Given the description of an element on the screen output the (x, y) to click on. 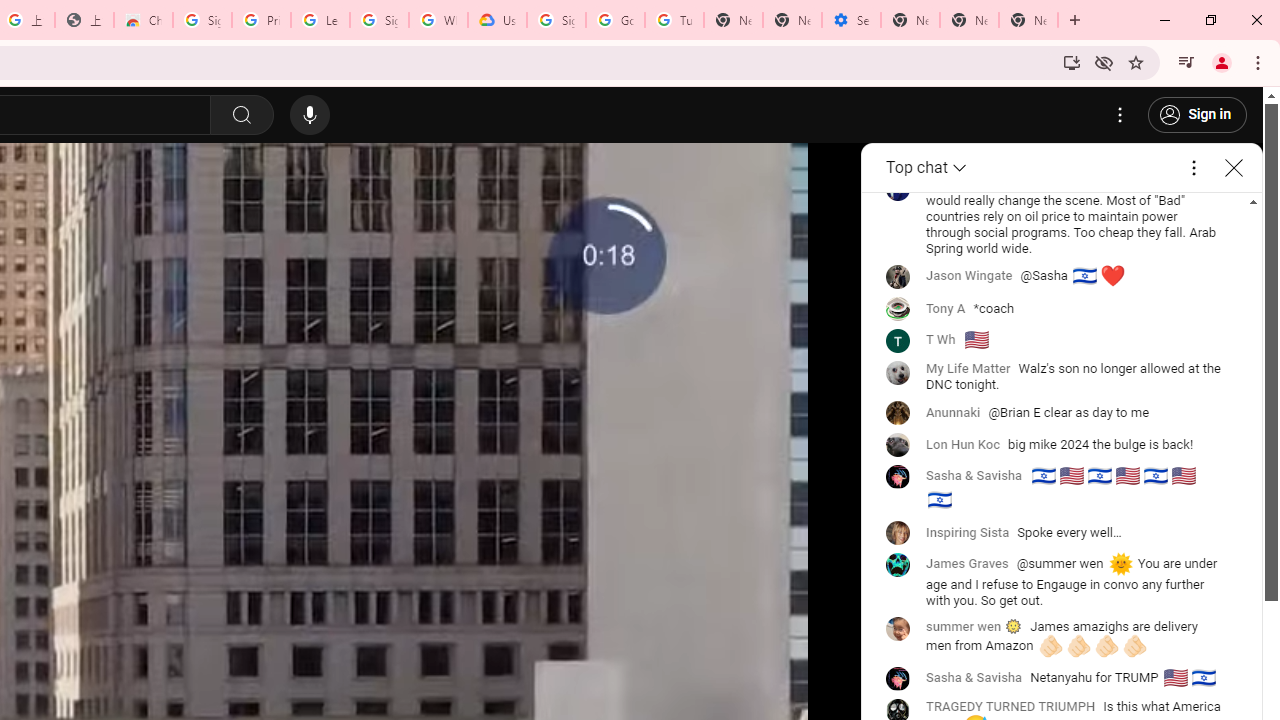
Sign in - Google Accounts (201, 20)
